Given the description of an element on the screen output the (x, y) to click on. 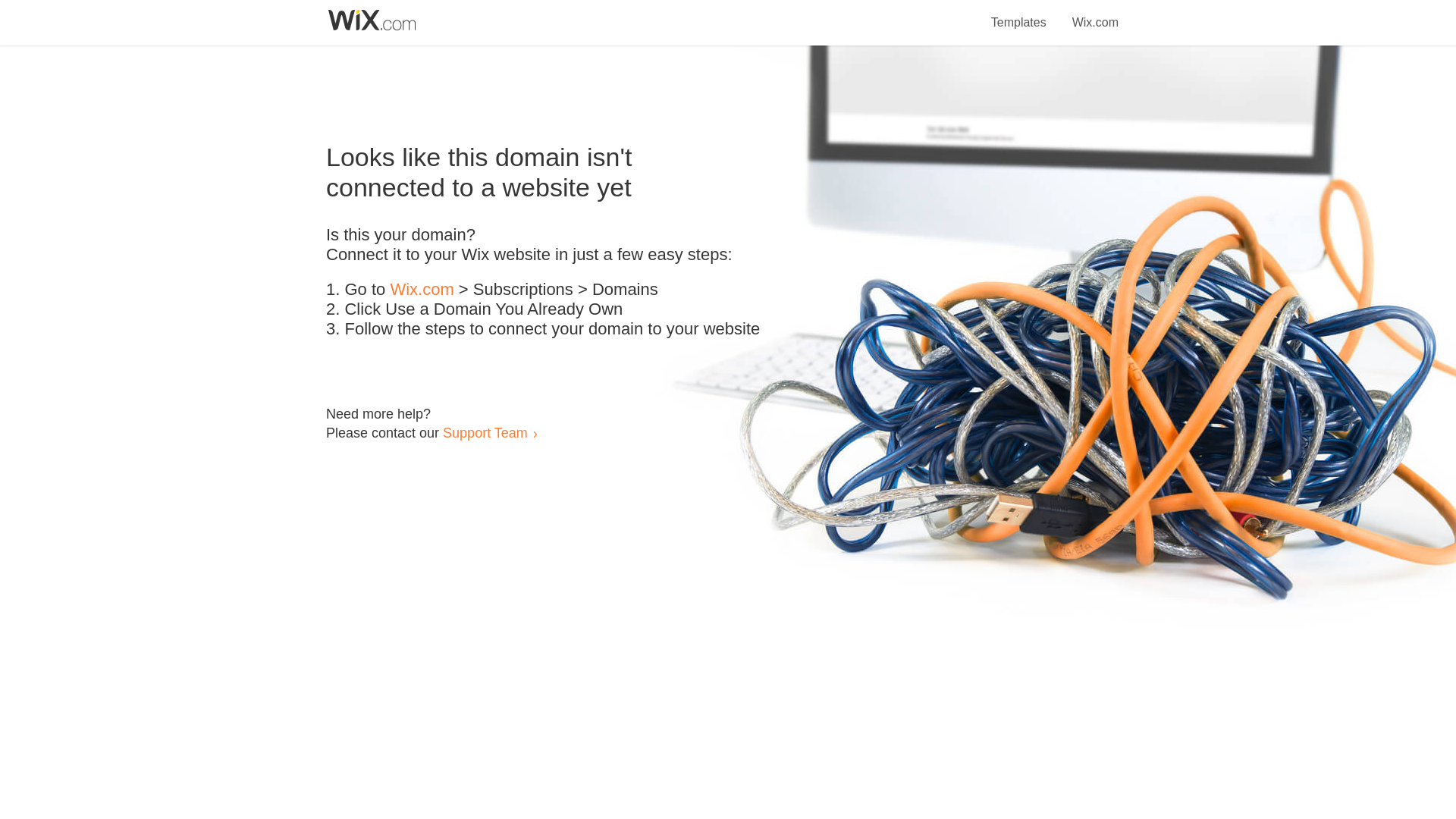
Support Team (484, 432)
Wix.com (1095, 14)
Wix.com (421, 289)
Templates (1018, 14)
